Given the description of an element on the screen output the (x, y) to click on. 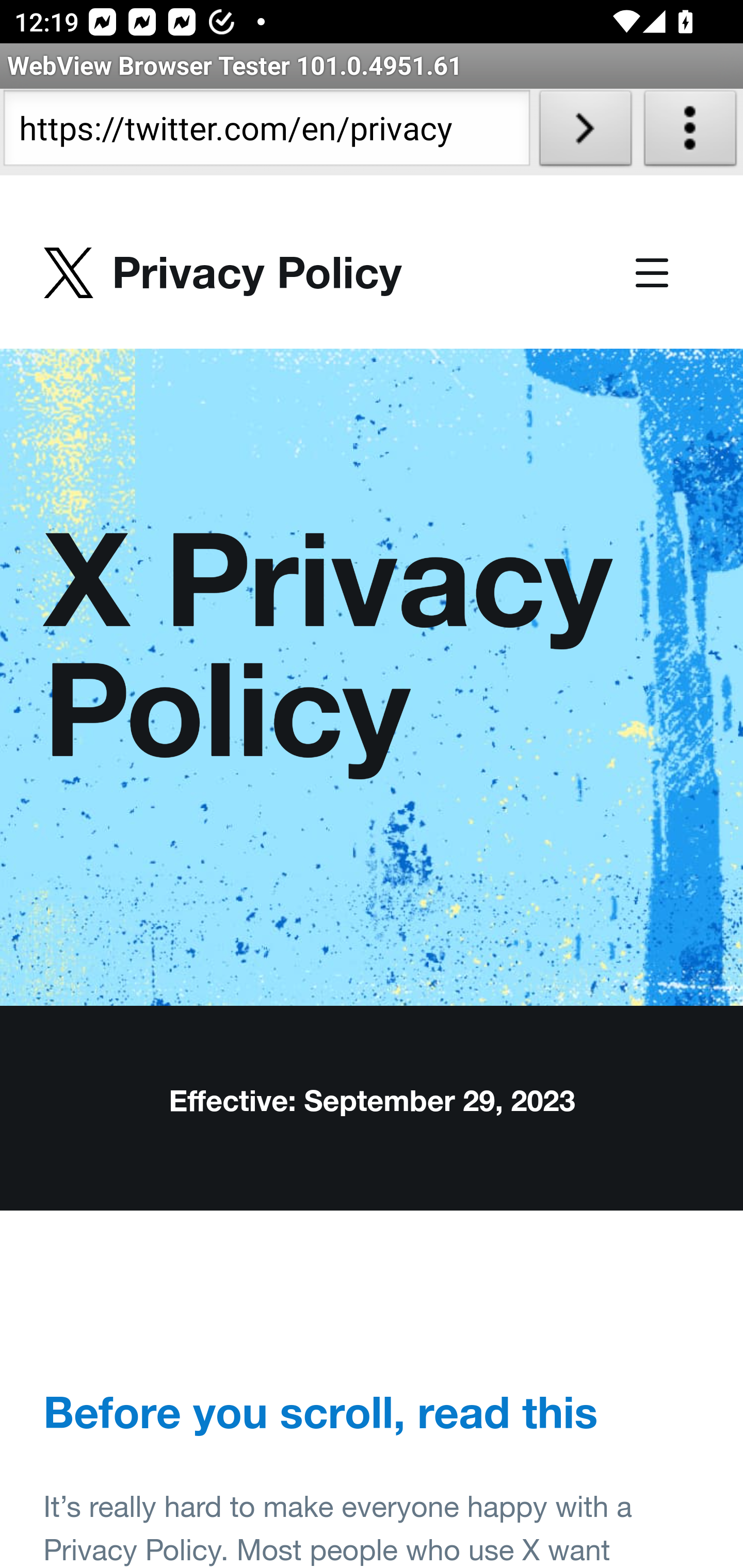
https://twitter.com/en/privacy (266, 132)
Load URL (585, 132)
About WebView (690, 132)
Privacy Policy home (222, 272)
Open Menu (652, 274)
Effective: September 29, 2023 (372, 1100)
